Given the description of an element on the screen output the (x, y) to click on. 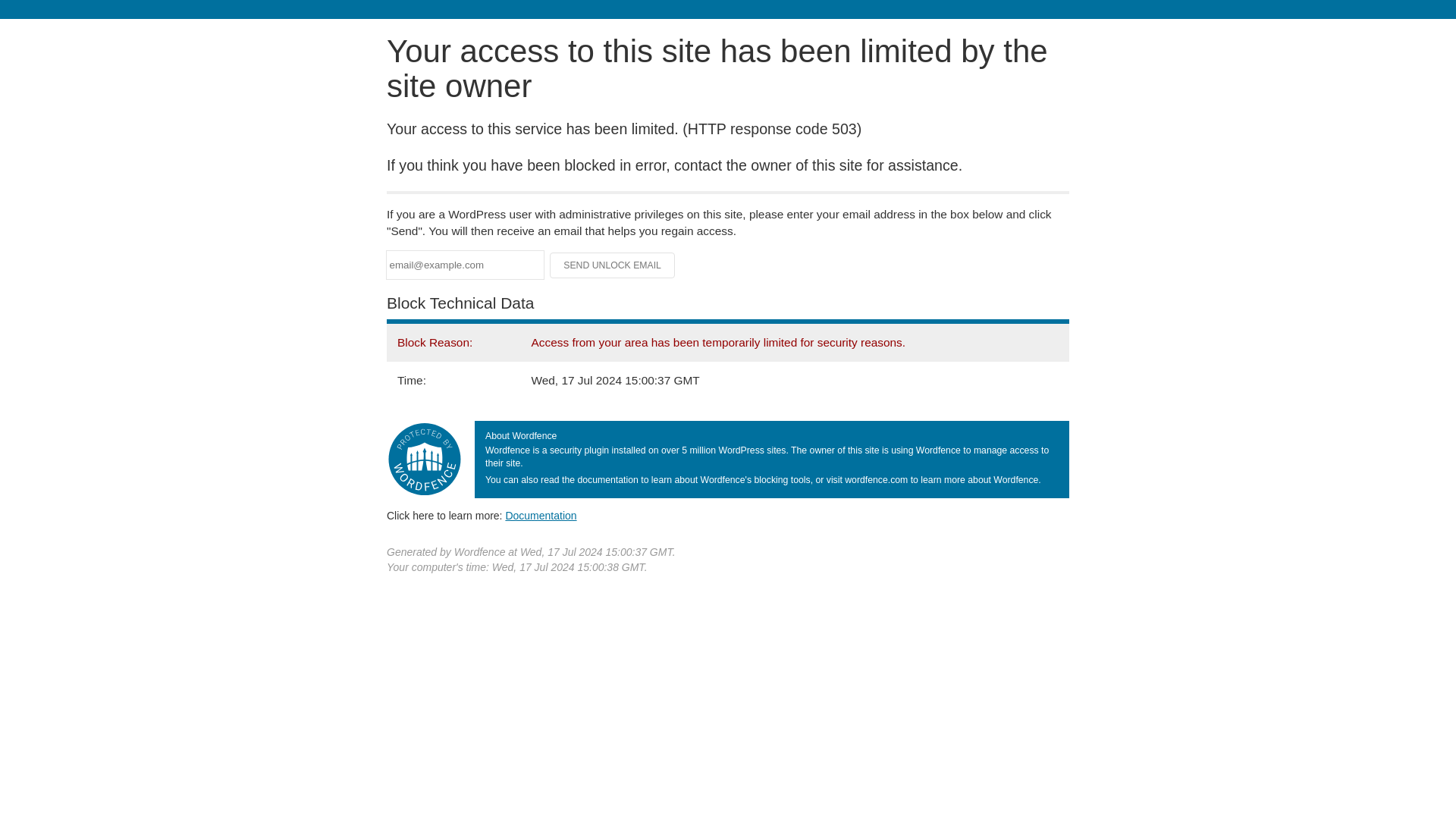
Send Unlock Email (612, 265)
Documentation (540, 515)
Send Unlock Email (612, 265)
